Given the description of an element on the screen output the (x, y) to click on. 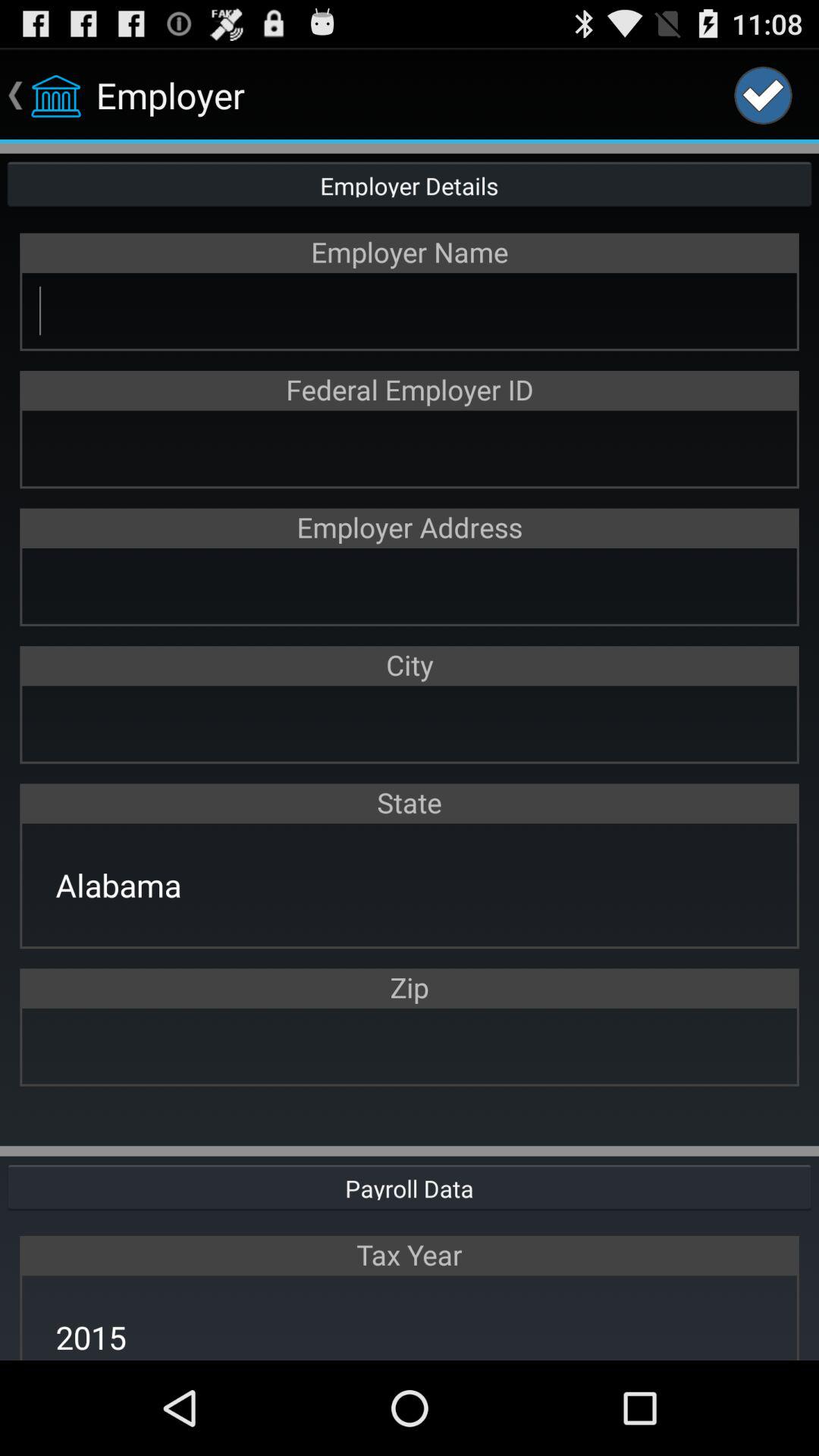
enter employer 's name (409, 310)
